Given the description of an element on the screen output the (x, y) to click on. 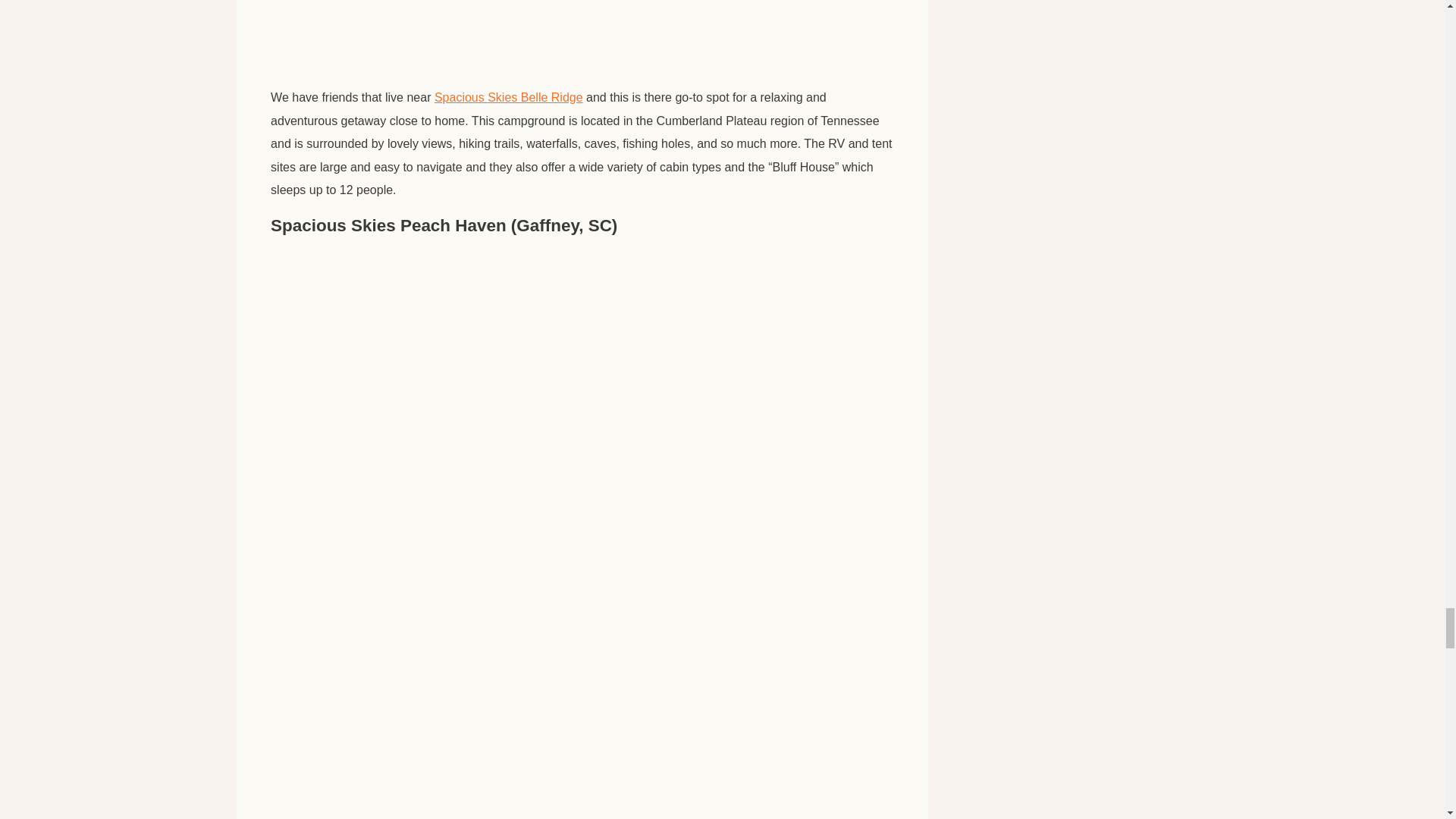
Spacious Skies Belle Ridge (508, 97)
